Given the description of an element on the screen output the (x, y) to click on. 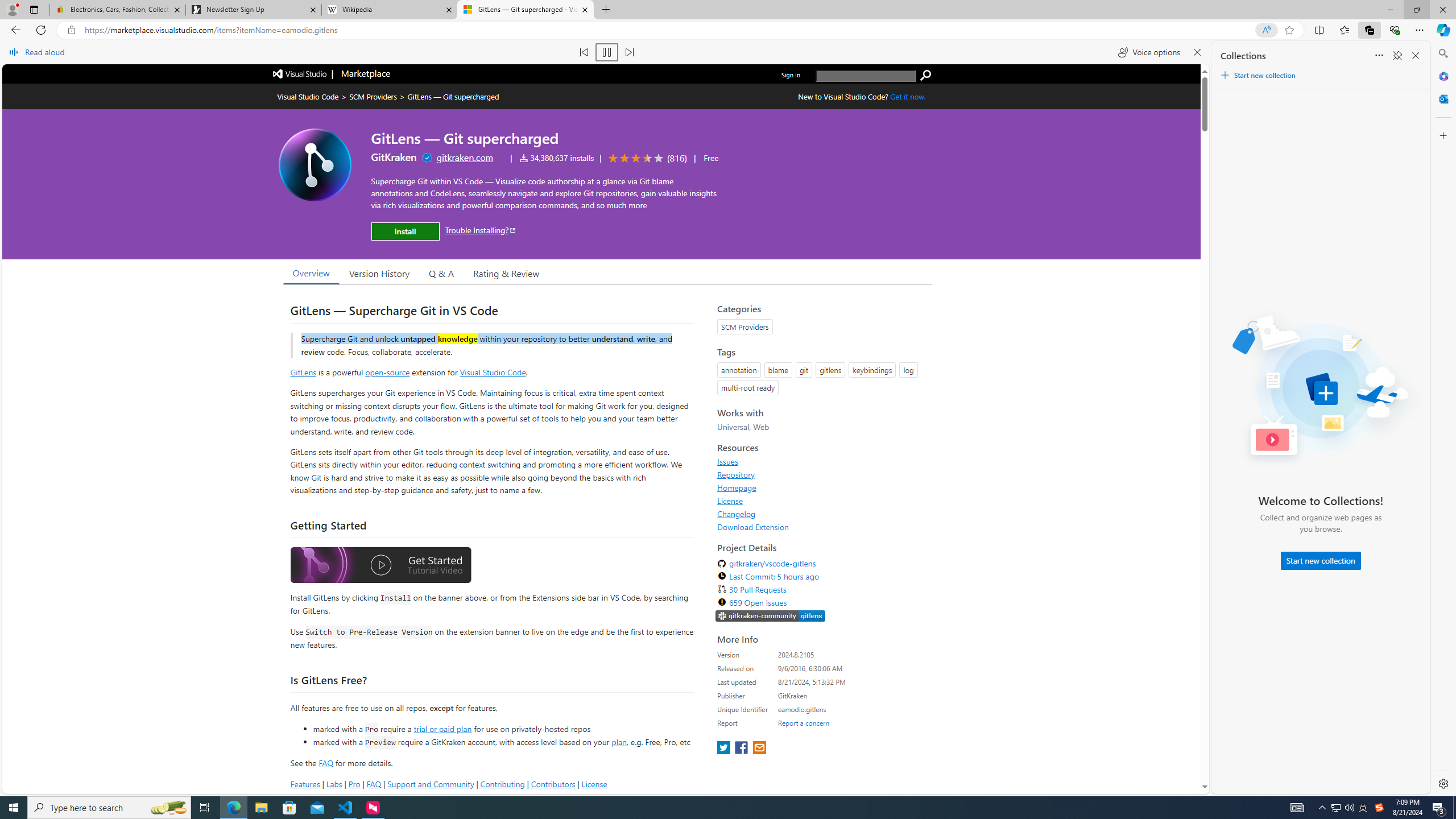
More from GitKraken publisher (393, 156)
https://slack.gitkraken.com// (769, 615)
Q & A (441, 272)
Labs (334, 783)
Average rating: 3.7 out of 5. Navigate to user reviews. (645, 157)
search (925, 75)
